Given the description of an element on the screen output the (x, y) to click on. 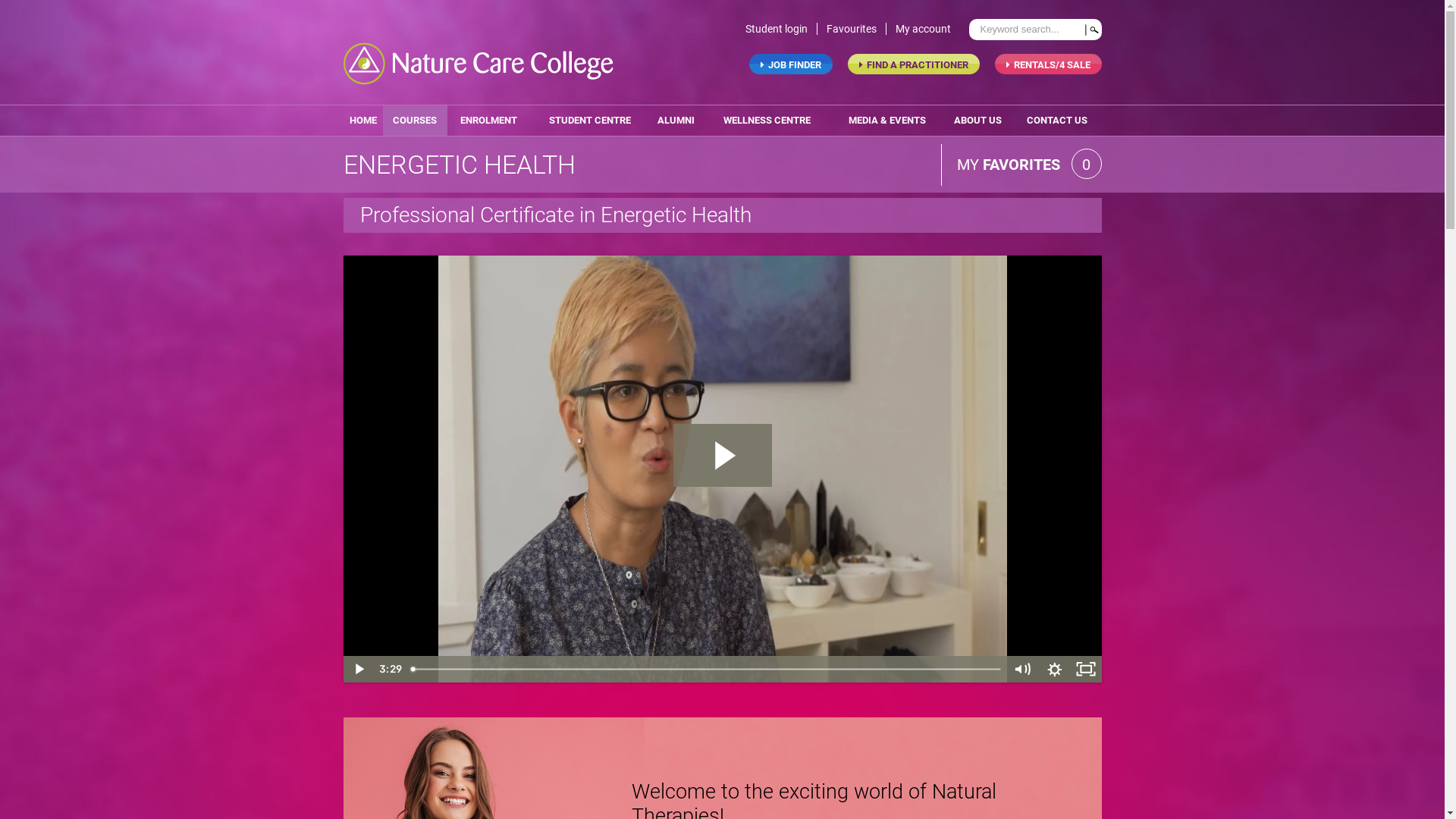
JOB FINDER Element type: text (790, 63)
CONTACT US Element type: text (1057, 120)
0 Element type: text (1086, 164)
FIND A PRACTITIONER Element type: text (913, 63)
ALUMNI Element type: text (675, 120)
WELLNESS CENTRE Element type: text (767, 120)
ABOUT US Element type: text (978, 120)
RENTALS/4 SALE Element type: text (1047, 63)
MEDIA & EVENTS Element type: text (886, 120)
My account Element type: text (926, 28)
Student login Element type: text (780, 28)
STUDENT CENTRE Element type: text (589, 120)
ENROLMENT Element type: text (488, 120)
COURSES Element type: text (414, 120)
HOME Element type: text (362, 120)
  Element type: text (1091, 29)
Favourites Element type: text (856, 28)
